Given the description of an element on the screen output the (x, y) to click on. 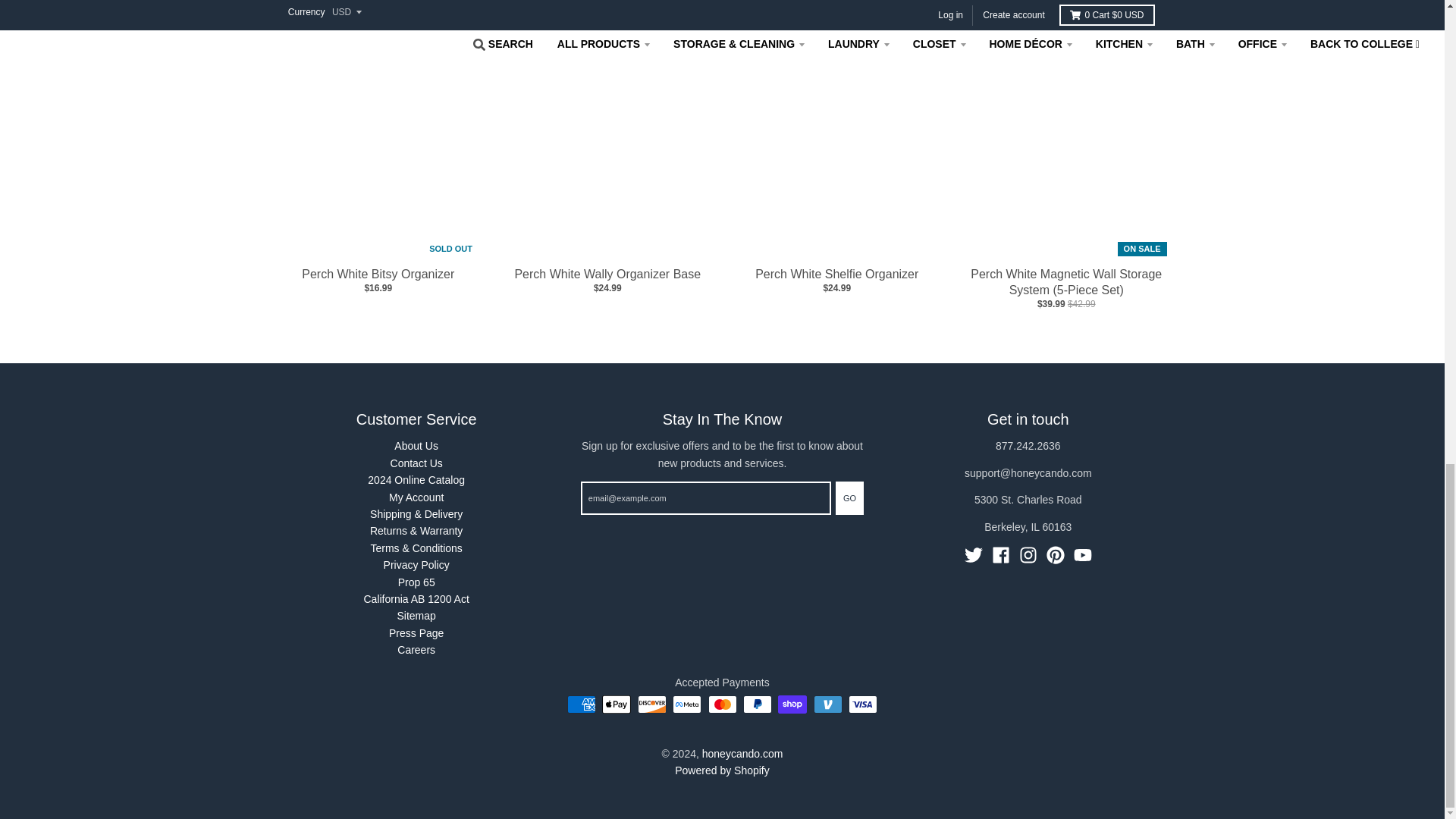
Instagram - honeycando.com (1027, 554)
Twitter - honeycando.com (972, 554)
Pinterest - honeycando.com (1055, 554)
Facebook - honeycando.com (1000, 554)
YouTube - honeycando.com (1083, 554)
